Given the description of an element on the screen output the (x, y) to click on. 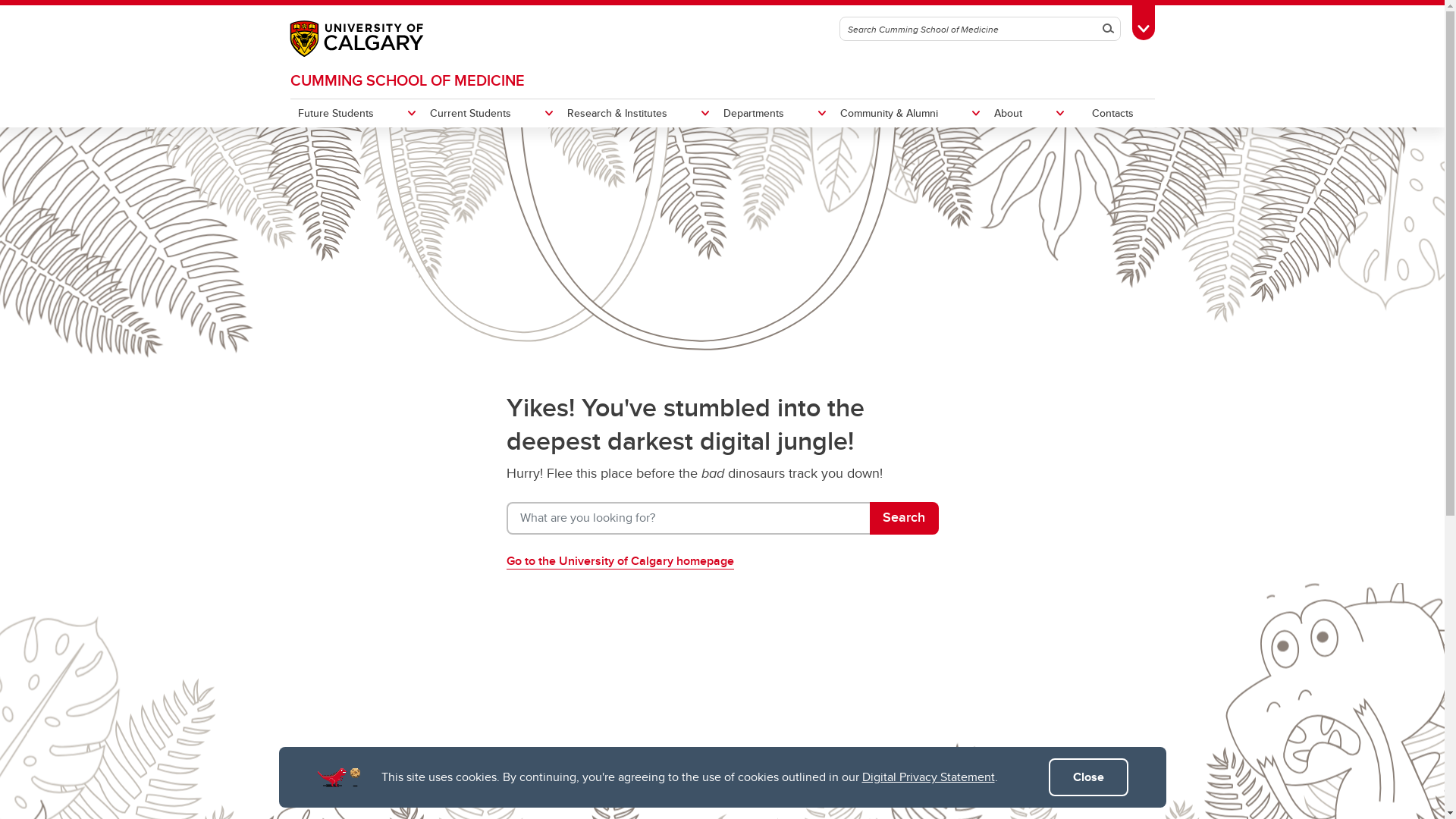
Research & Institutes Element type: text (637, 112)
Community & Alumni Element type: text (909, 112)
Go to the University of Calgary homepage Element type: text (629, 560)
Future Students Element type: text (355, 112)
Departments Element type: text (773, 112)
Close Element type: text (1087, 777)
Contacts Element type: text (1112, 112)
CUMMING SCHOOL OF MEDICINE Element type: text (406, 80)
About Element type: text (1027, 112)
Search Element type: text (1107, 28)
Digital Privacy Statement Element type: text (927, 776)
Search Element type: text (903, 518)
Current Students Element type: text (489, 112)
Toggle Toolbox Element type: text (1142, 20)
